Given the description of an element on the screen output the (x, y) to click on. 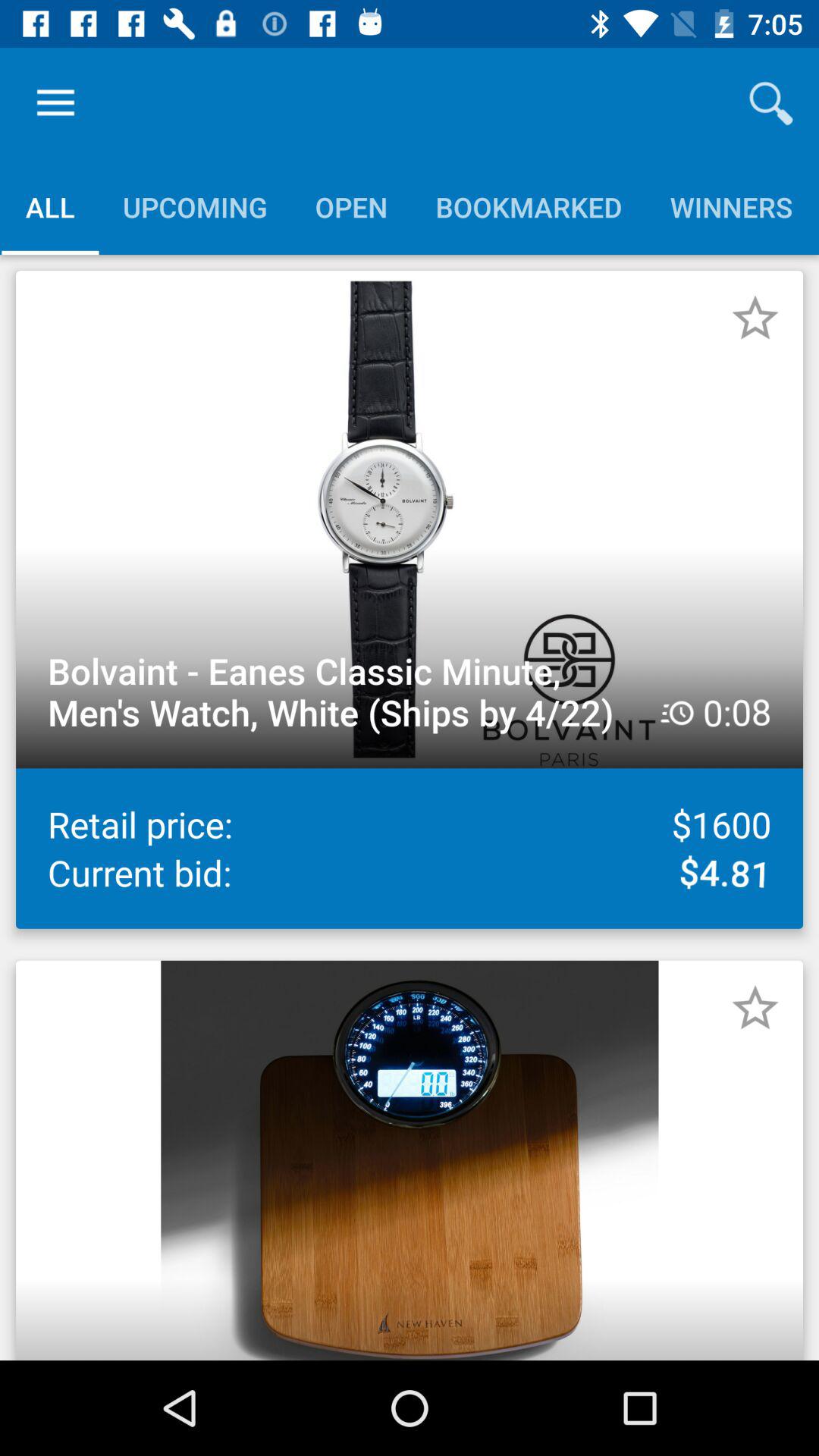
toggle favorite (755, 318)
